Given the description of an element on the screen output the (x, y) to click on. 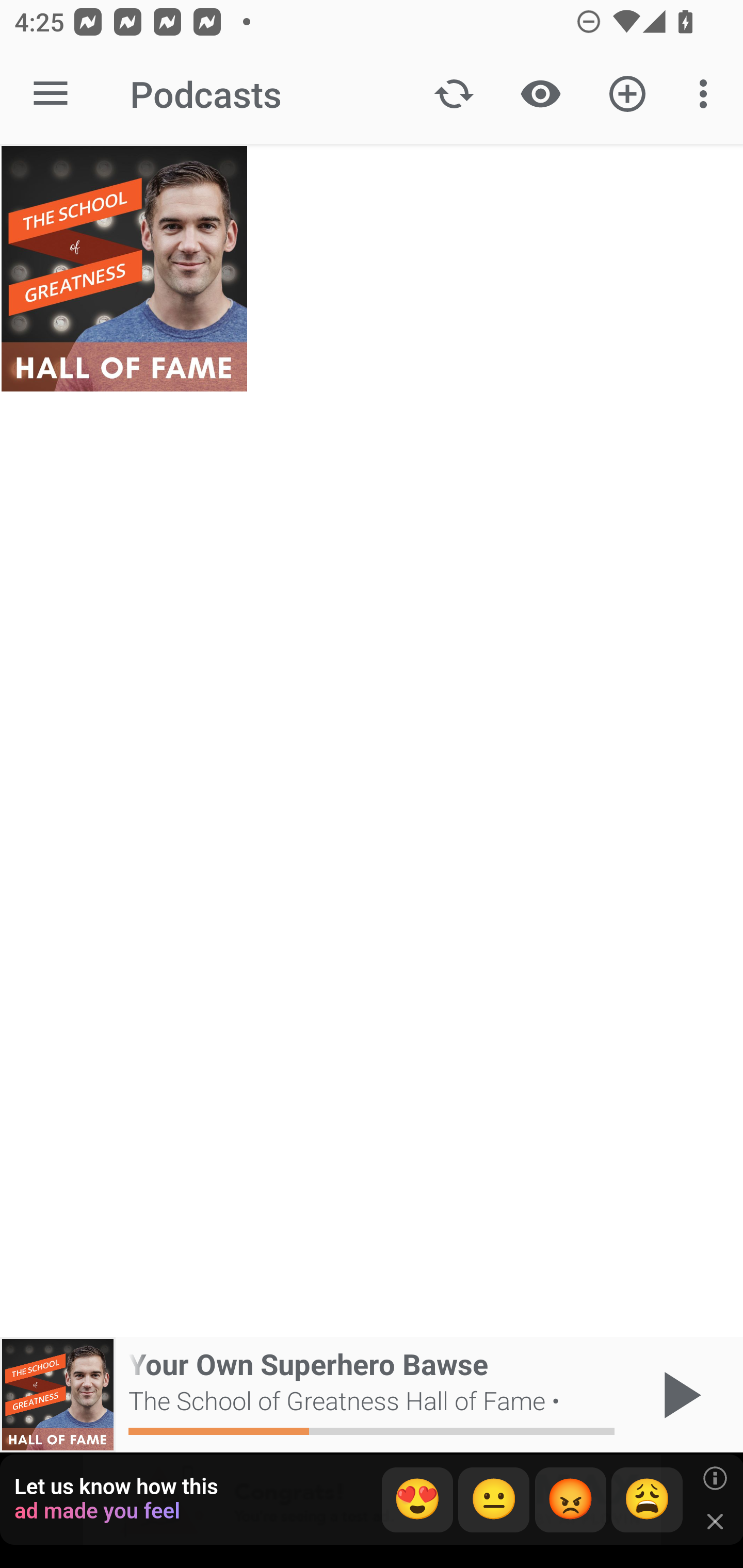
Open navigation sidebar (50, 93)
Update (453, 93)
Show / Hide played content (540, 93)
Add new Podcast (626, 93)
More options (706, 93)
The School of Greatness Hall of Fame (124, 268)
Play / Pause (677, 1394)
app-monetization (371, 1500)
😍 (416, 1499)
😐 (493, 1499)
😡 (570, 1499)
😩 (647, 1499)
